Given the description of an element on the screen output the (x, y) to click on. 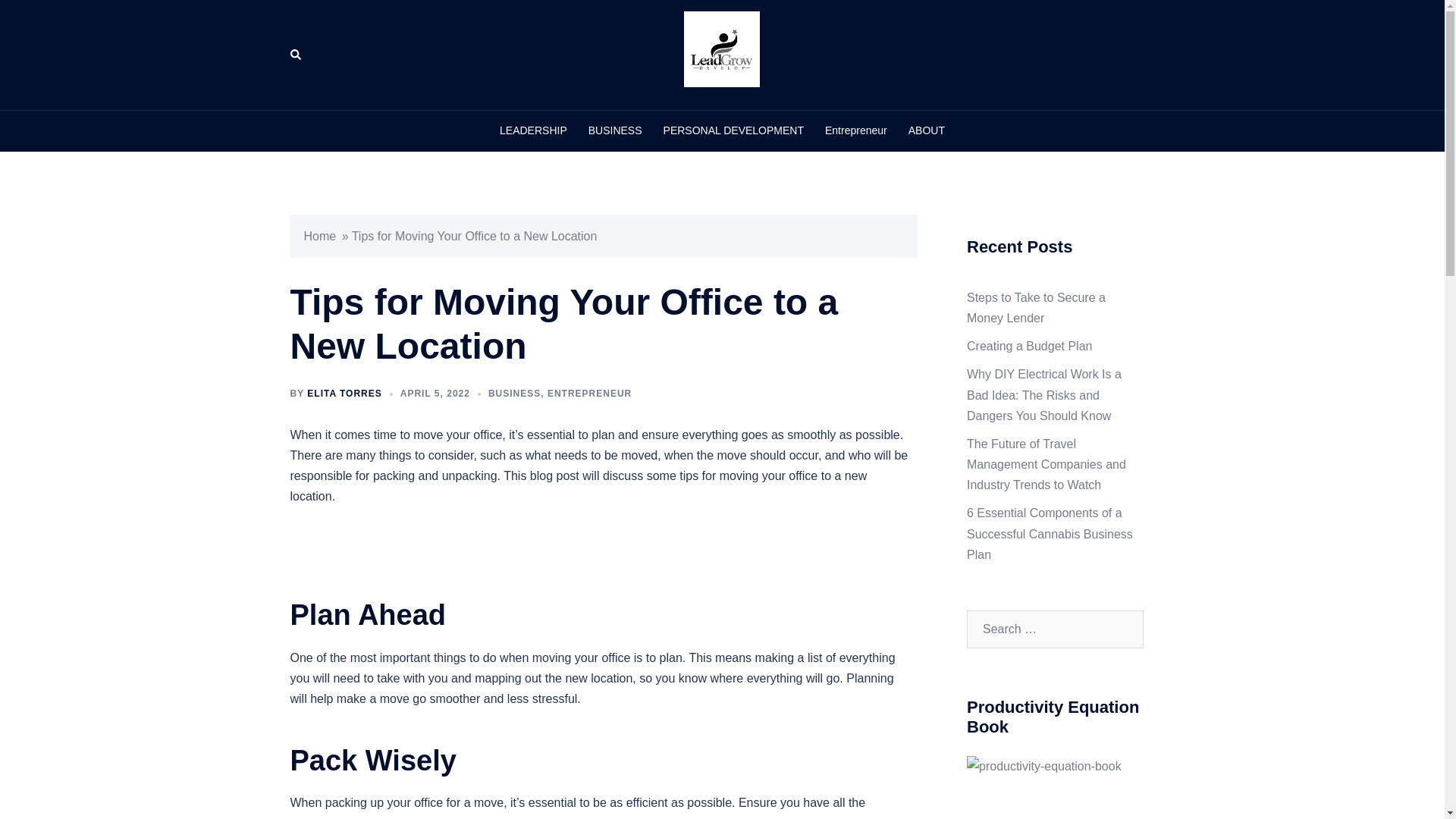
LEADERSHIP (533, 131)
ELITA TORRES (344, 393)
Steps to Take to Secure a Money Lender (1035, 307)
PERSONAL DEVELOPMENT (733, 131)
BUSINESS (615, 131)
Search (295, 54)
APRIL 5, 2022 (435, 393)
ENTREPRENEUR (589, 393)
Home (319, 236)
